Given the description of an element on the screen output the (x, y) to click on. 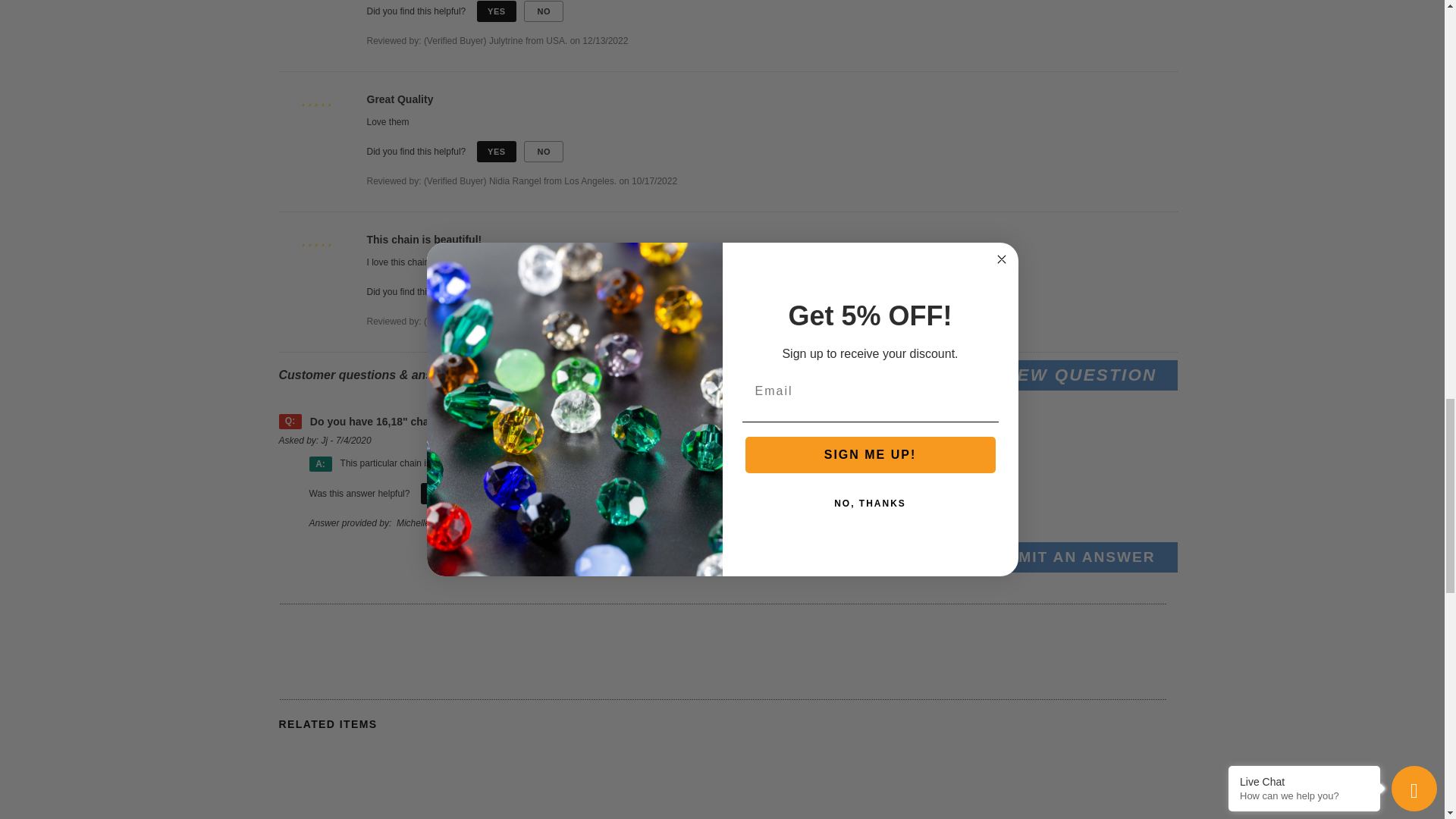
No (543, 151)
No (543, 291)
Yes (496, 151)
Yes (440, 493)
No (543, 11)
Yes (496, 291)
No (486, 493)
Yes (496, 11)
